Given the description of an element on the screen output the (x, y) to click on. 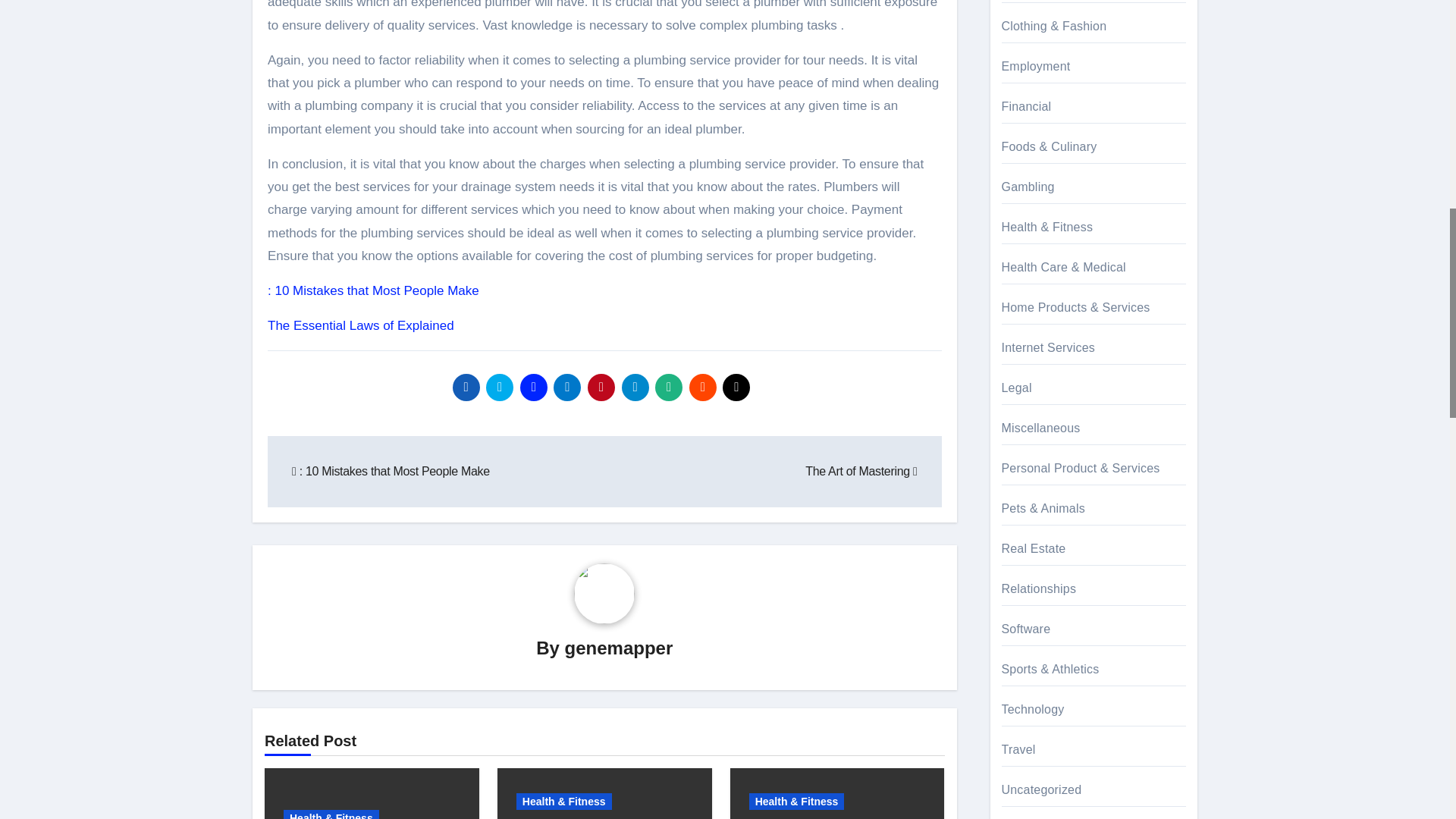
The Art of Mastering (861, 471)
: 10 Mistakes that Most People Make (373, 290)
: 10 Mistakes that Most People Make (390, 471)
The Essential Laws of Explained (360, 325)
genemapper (618, 648)
